Given the description of an element on the screen output the (x, y) to click on. 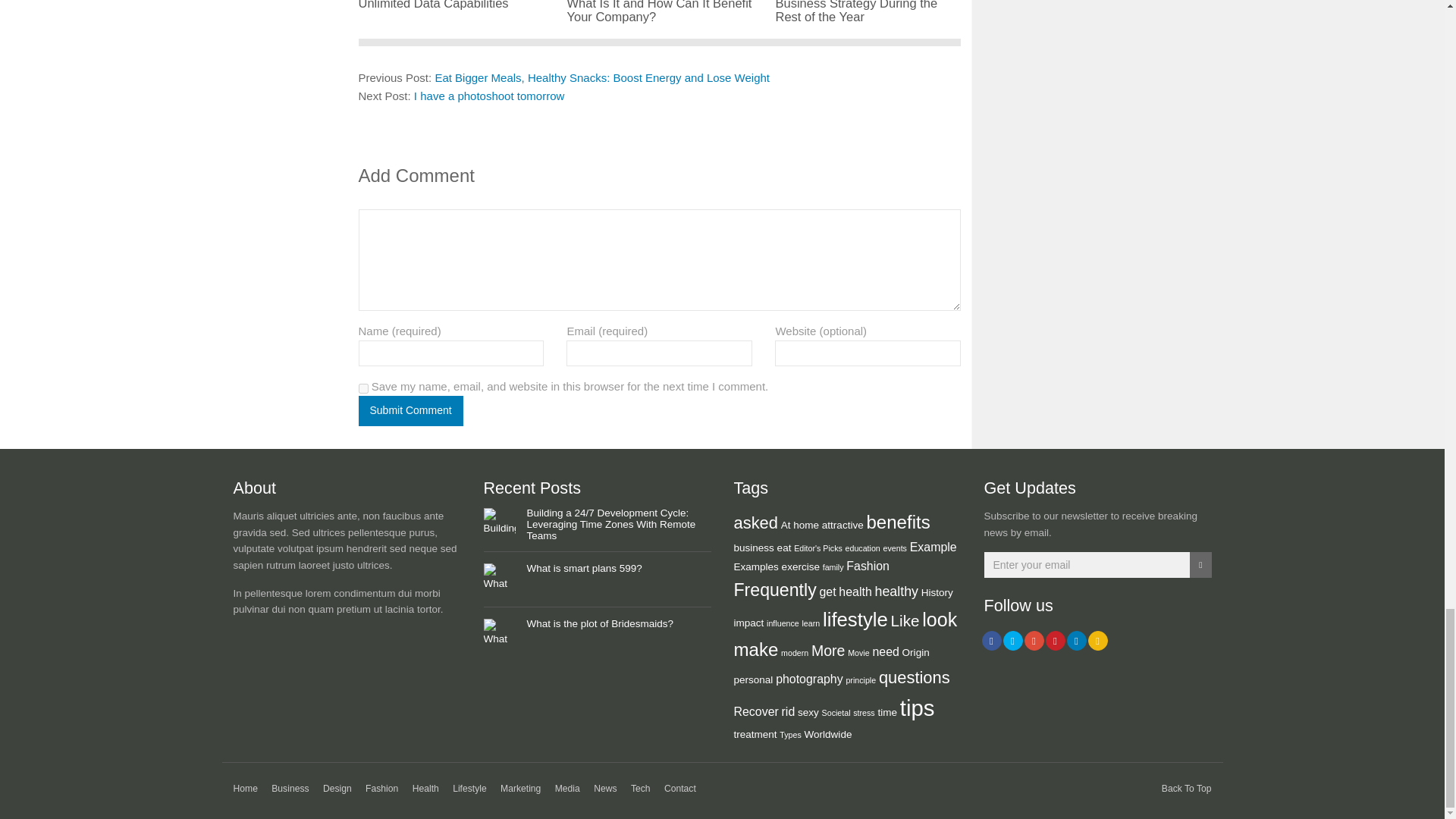
Google Plus (1033, 640)
Facebook (991, 640)
I have a photoshoot tomorrow (488, 95)
Submit Comment (410, 410)
Buy Google Workspace with Unlimited Data Capabilities (450, 4)
yes (363, 388)
Twitter (1012, 640)
RSS (1096, 640)
